Given the description of an element on the screen output the (x, y) to click on. 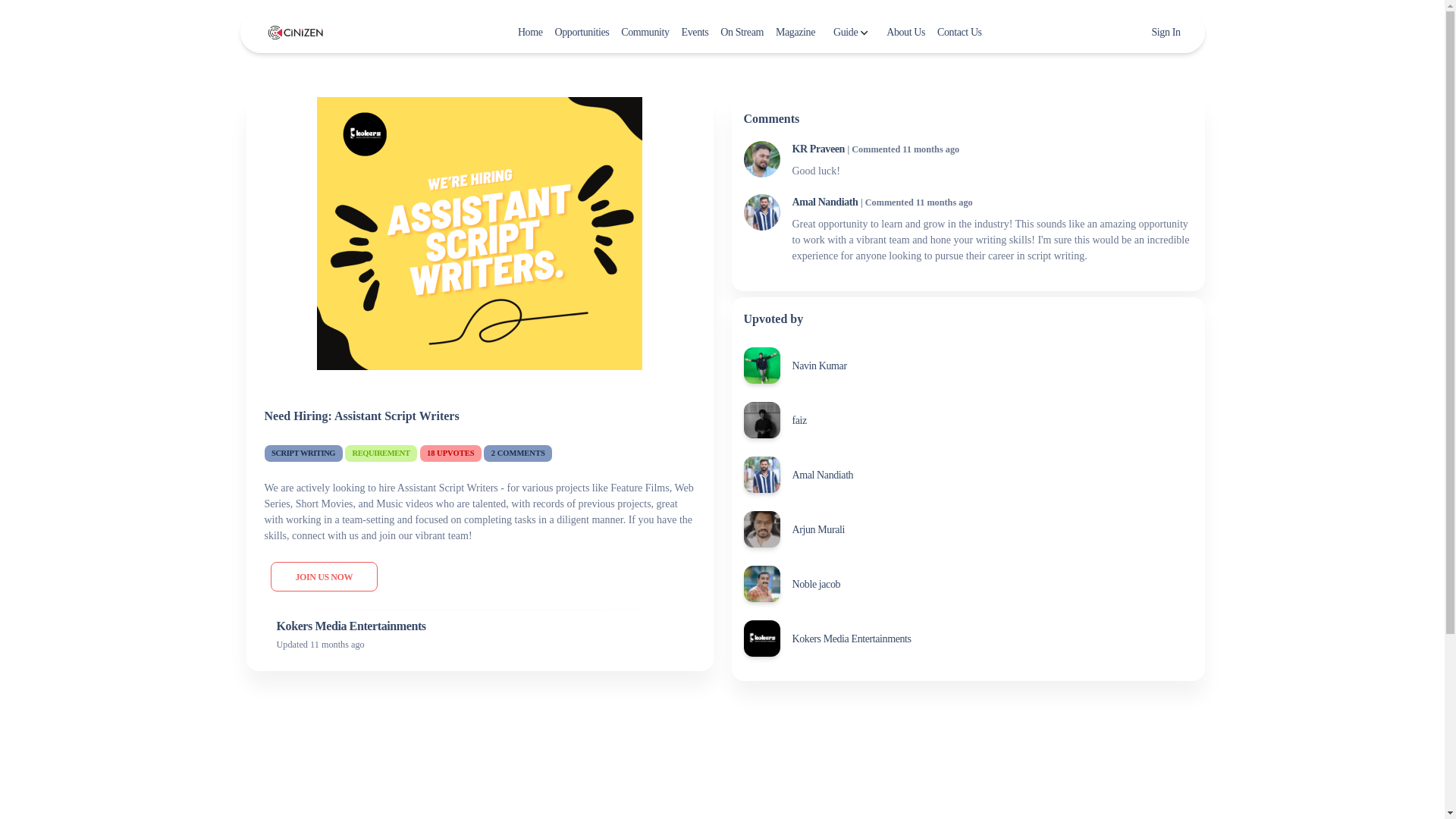
JOIN US NOW (323, 576)
Navin Kumar (818, 365)
Opportunities (581, 32)
REQUIREMENT (380, 453)
Kokers Media Entertainments (851, 638)
Amal Nandiath (824, 202)
Sign In (1163, 32)
KR Praveen (818, 148)
Amal Nandiath (822, 474)
Guide (851, 32)
